Given the description of an element on the screen output the (x, y) to click on. 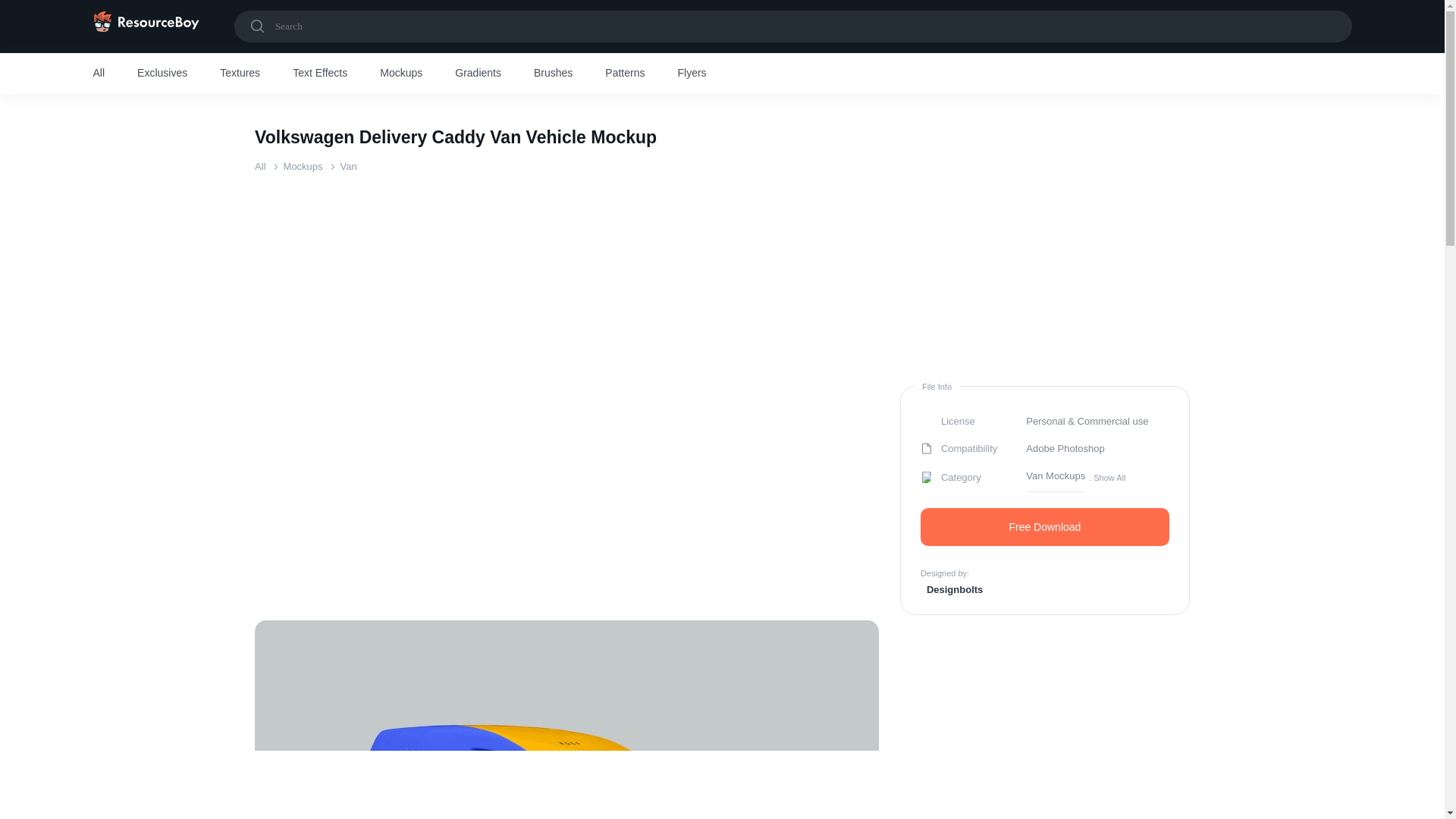
All (259, 165)
Mockups (401, 73)
Designbolts (951, 588)
Van (348, 165)
Brushes (553, 73)
Patterns (625, 73)
Free Download (1044, 526)
Exclusives (161, 73)
. Show All (1107, 476)
Gradients (477, 73)
